Given the description of an element on the screen output the (x, y) to click on. 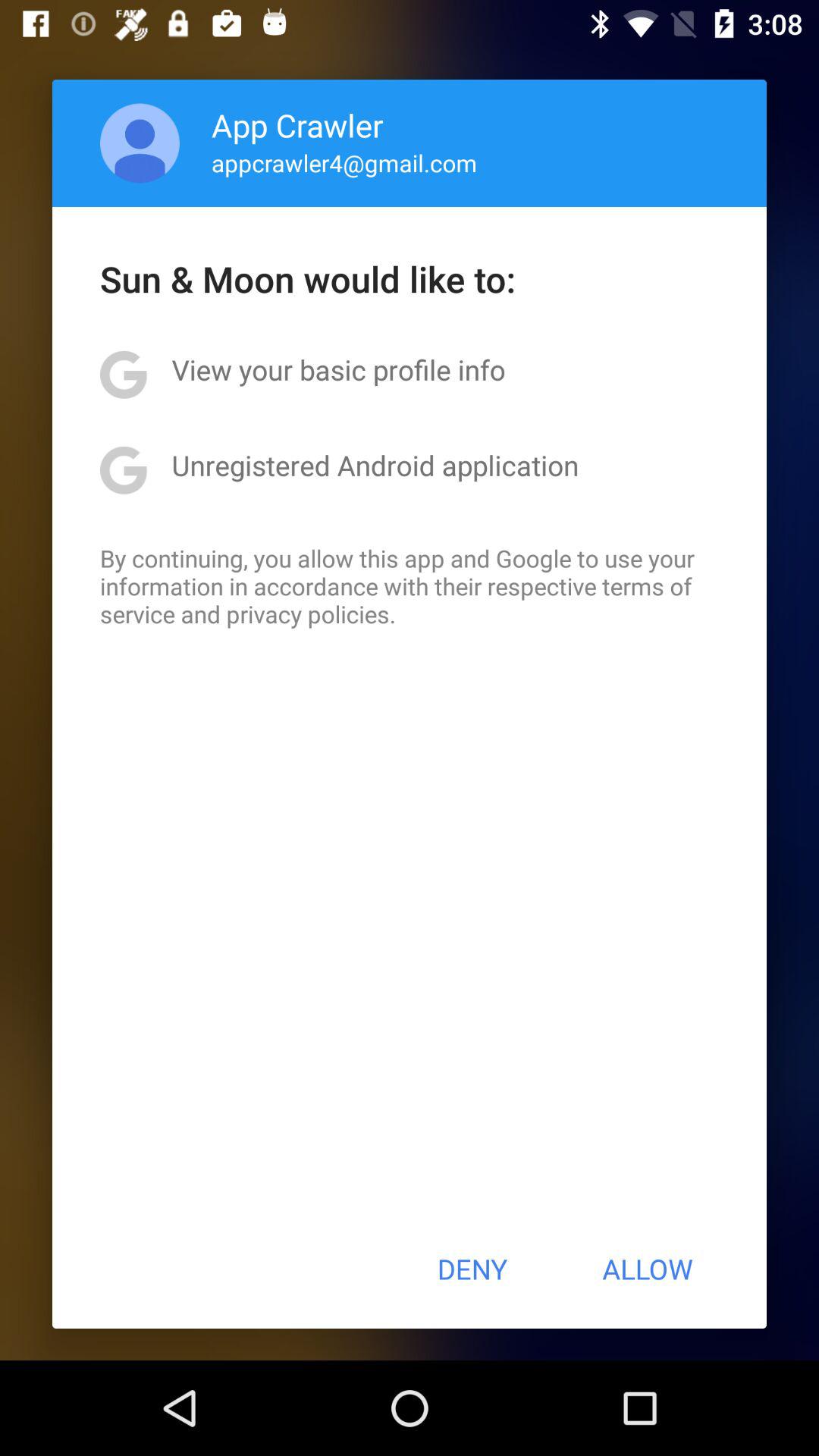
turn on the app below app crawler item (344, 162)
